Given the description of an element on the screen output the (x, y) to click on. 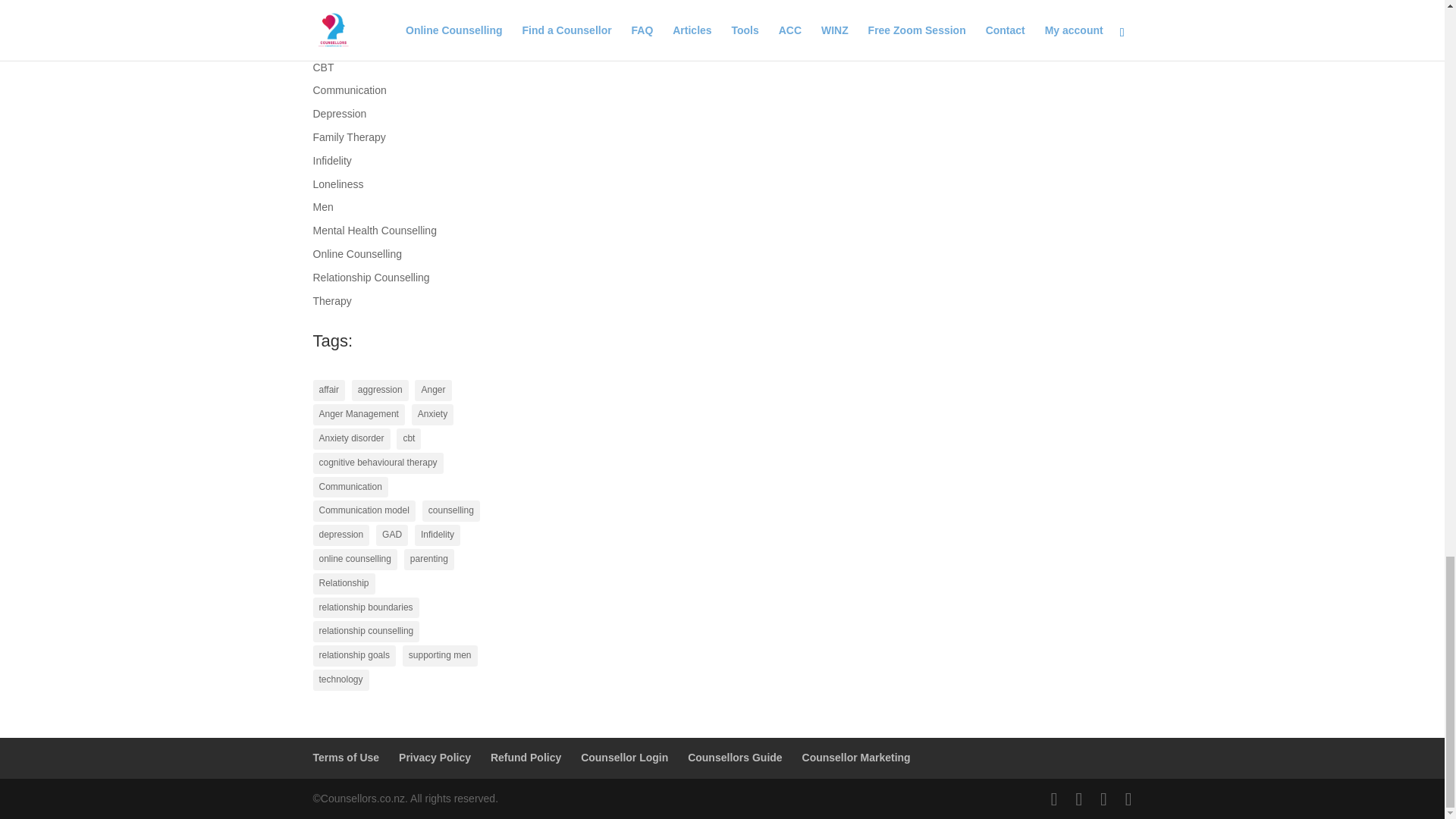
Loneliness (337, 184)
Mental Health Counselling (374, 230)
Communication (349, 90)
Men (323, 206)
Anxiety (330, 43)
Infidelity (331, 160)
Depression (339, 113)
Family Therapy (349, 137)
CBT (323, 67)
Anger (326, 20)
